Given the description of an element on the screen output the (x, y) to click on. 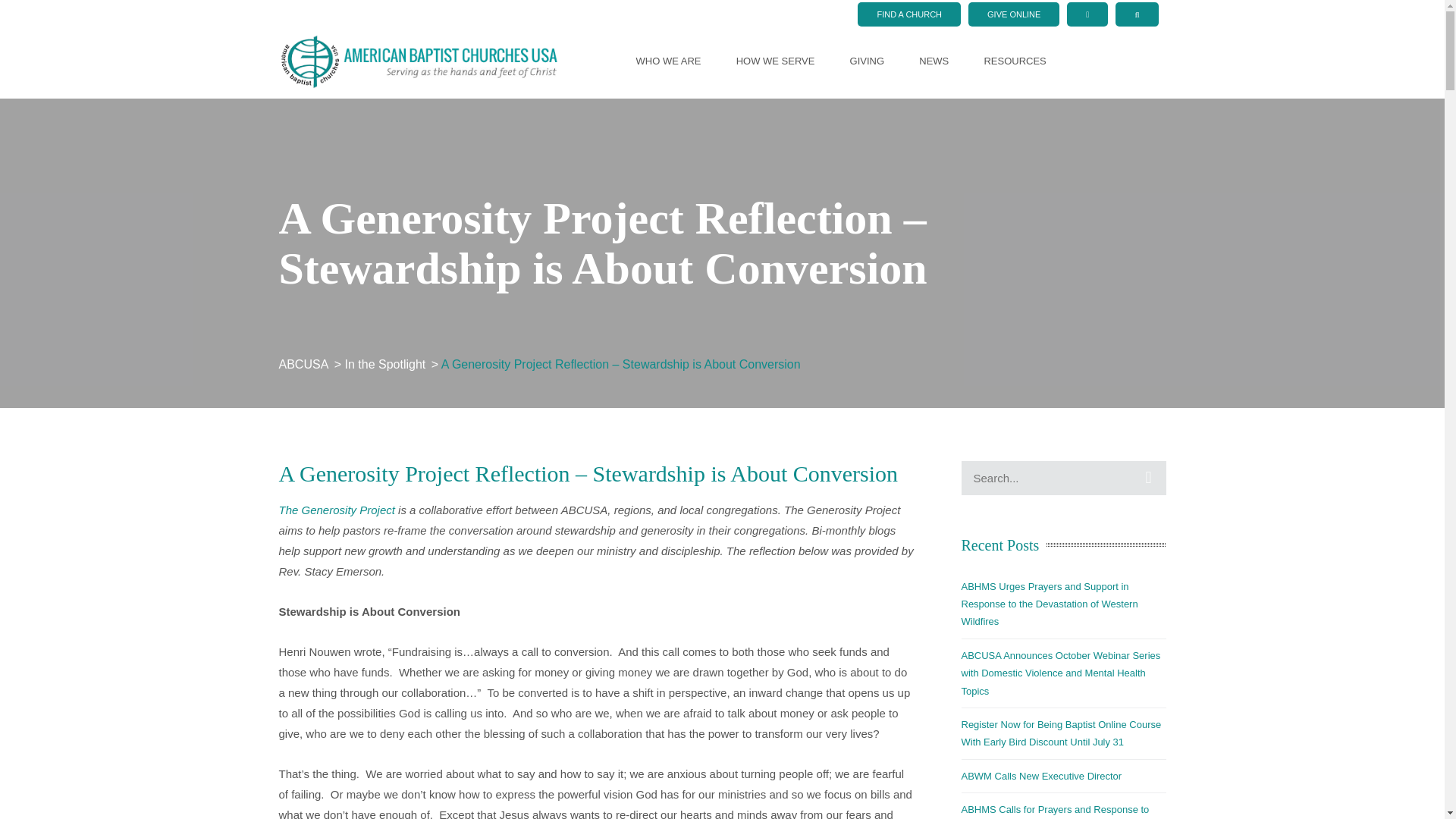
FIND A CHURCH (908, 14)
WHO WE ARE (668, 60)
GIVING (867, 60)
NEWS (933, 60)
ABCUSA - American Baptist Churches USA (419, 60)
Go to ABCUSA. (305, 364)
GIVE ONLINE (1013, 14)
Go to the In the Spotlight Category archives. (386, 364)
HOW WE SERVE (775, 60)
